Given the description of an element on the screen output the (x, y) to click on. 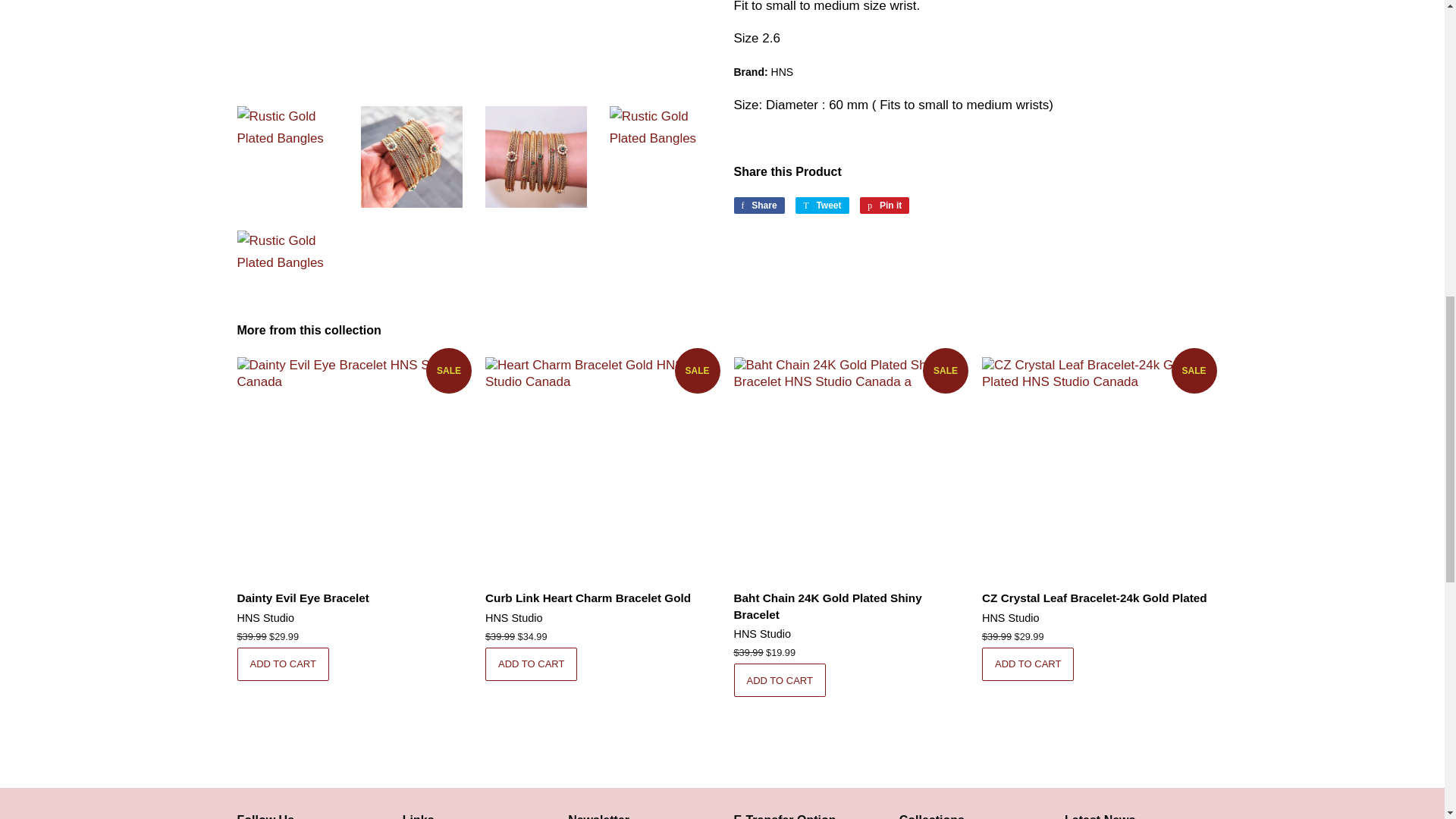
Share on Facebook (758, 205)
Add to cart (779, 679)
Tweet on Twitter (821, 205)
Add to cart (530, 663)
Pin on Pinterest (884, 205)
Add to cart (282, 663)
Add to cart (1027, 663)
